Given the description of an element on the screen output the (x, y) to click on. 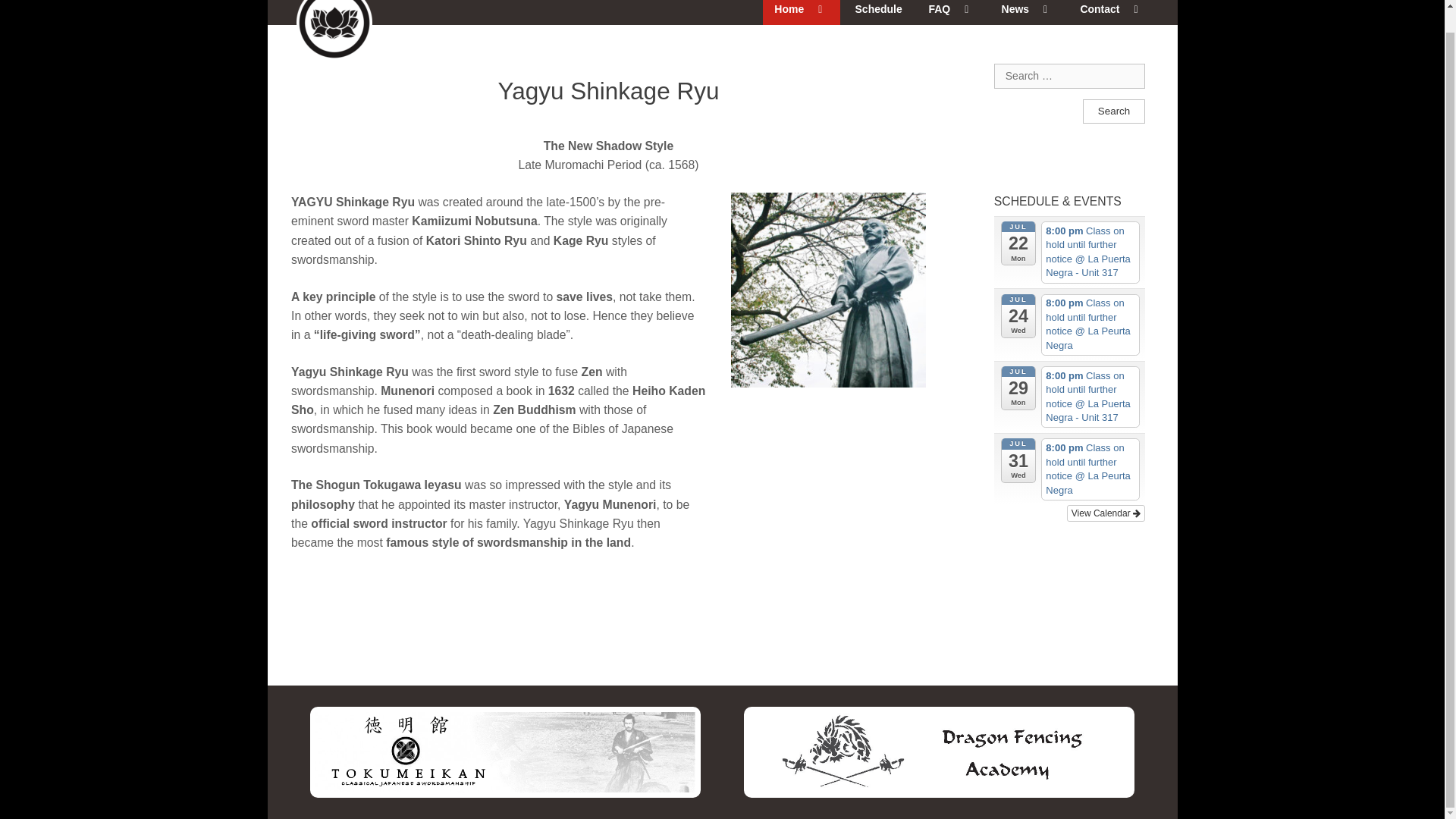
FAQ (952, 12)
Schedule (878, 12)
Home (801, 12)
Search (1113, 111)
expand child menu (965, 9)
Search (1113, 111)
expand child menu (1136, 9)
Oakville Kenjutsu (308, 6)
Search (1113, 111)
View Calendar (1105, 513)
News (1027, 12)
expand child menu (820, 9)
Contact (1112, 12)
expand child menu (1045, 9)
